Given the description of an element on the screen output the (x, y) to click on. 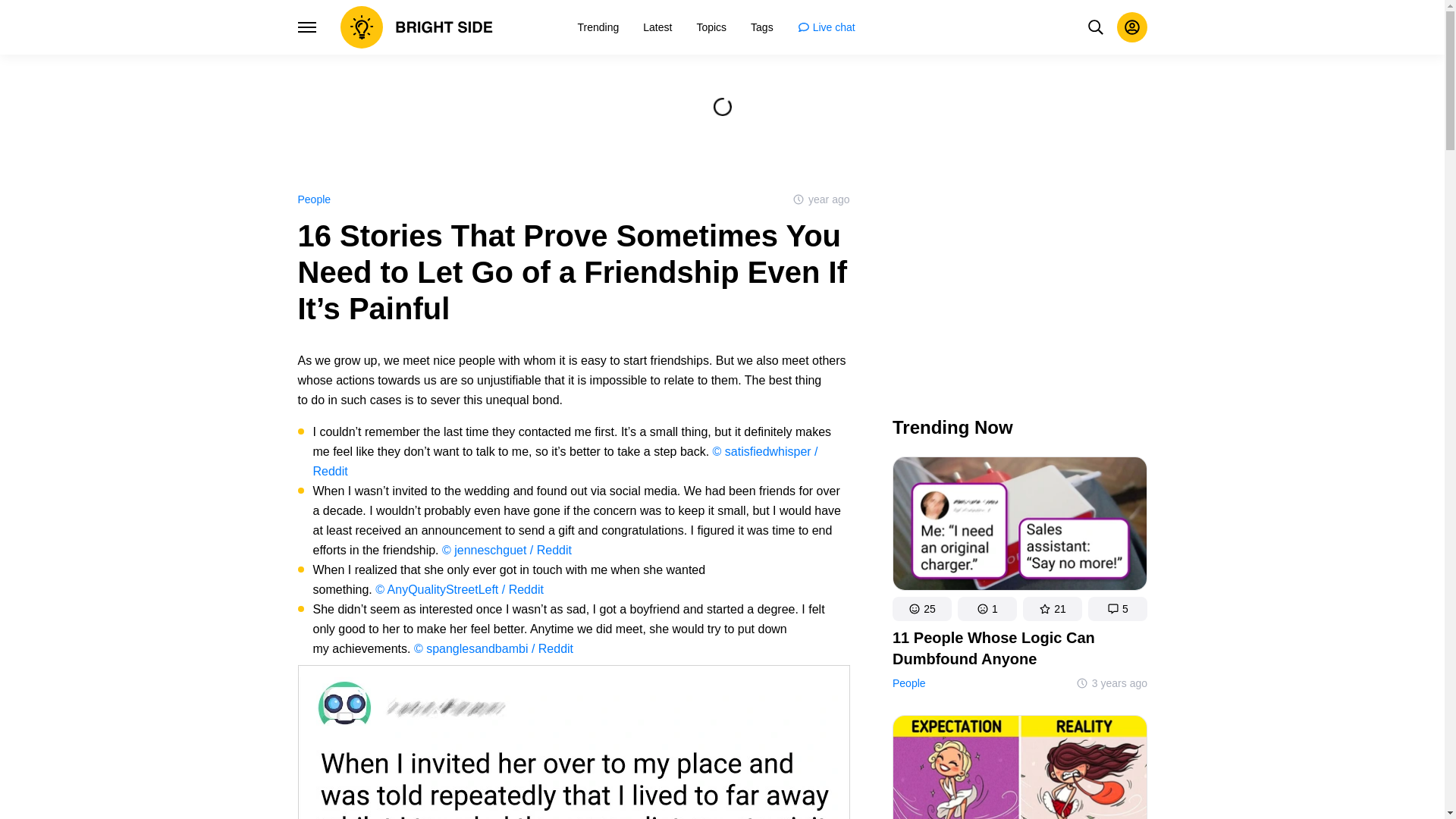
People (907, 683)
People (313, 199)
1 (986, 608)
5 (1117, 608)
21 (1051, 608)
25 (920, 608)
11 People Whose Logic Can Dumbfound Anyone (1019, 648)
